Given the description of an element on the screen output the (x, y) to click on. 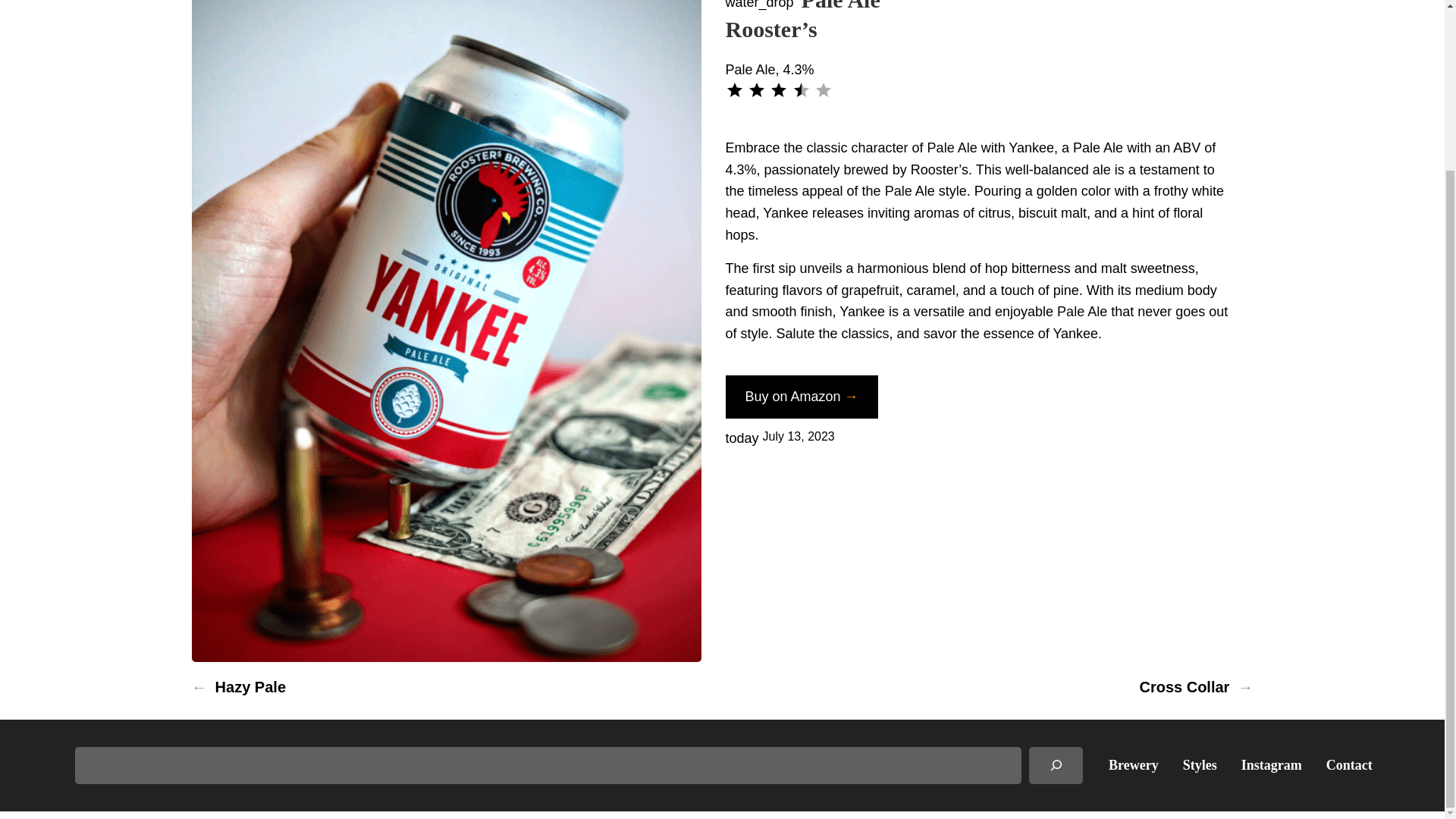
Styles (1199, 764)
Instagram (1271, 764)
Pale Al (948, 147)
Cross Collar (1183, 686)
Contact (1349, 764)
Hazy Pale (250, 686)
Pale Al (1078, 311)
Brewery (1133, 764)
Pale (898, 191)
Pale Ale (841, 6)
